Given the description of an element on the screen output the (x, y) to click on. 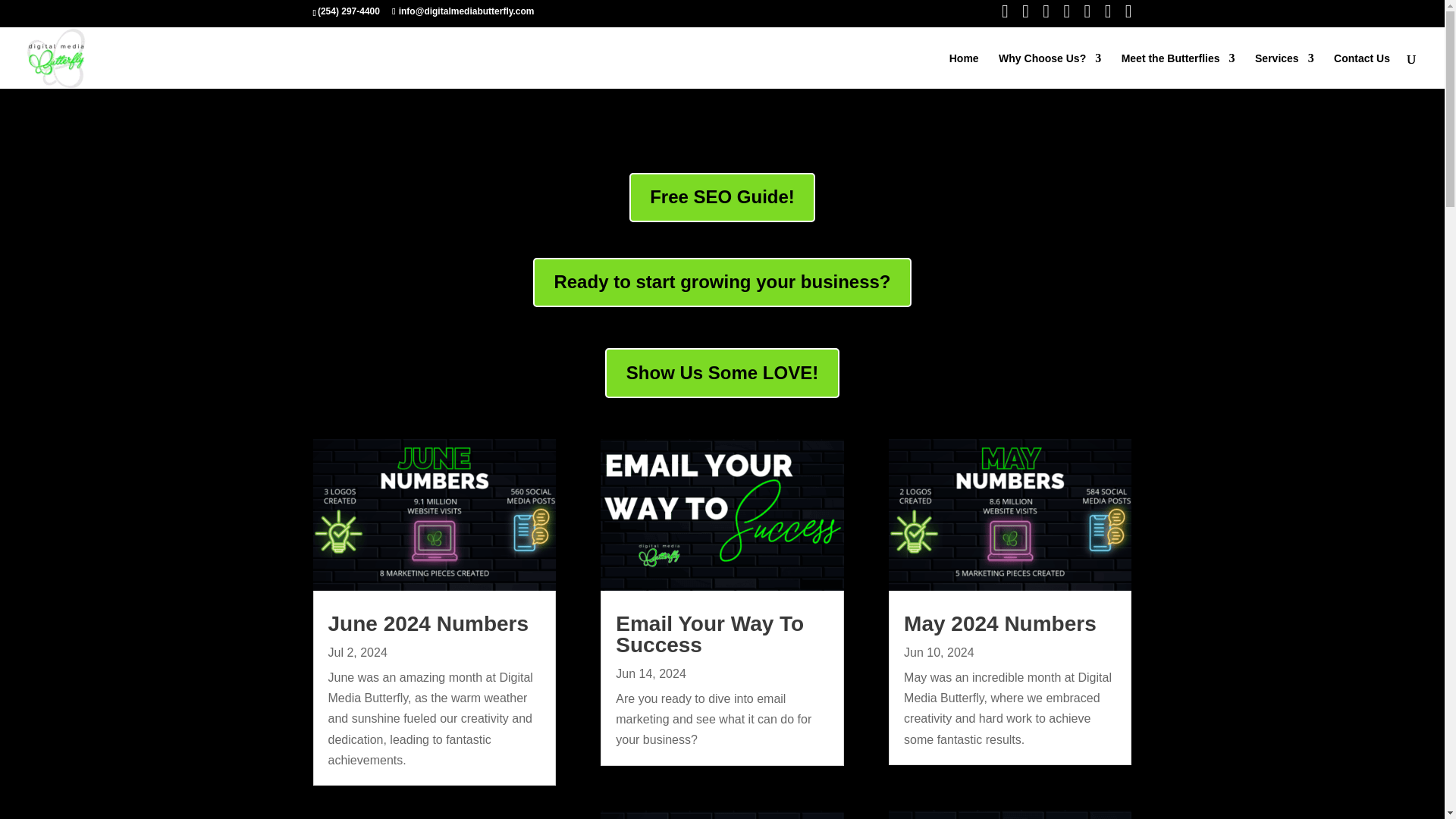
Google Maps (1108, 16)
Home (963, 70)
Services (1284, 70)
Why Choose Us? (1049, 70)
Facebook (1005, 16)
Contact Us (1361, 70)
YouTube (1128, 16)
Twitter (1045, 16)
Pinterest (1087, 16)
Meet the Butterflies (1177, 70)
LinkedIn (1066, 16)
Instagram (1025, 16)
